Given the description of an element on the screen output the (x, y) to click on. 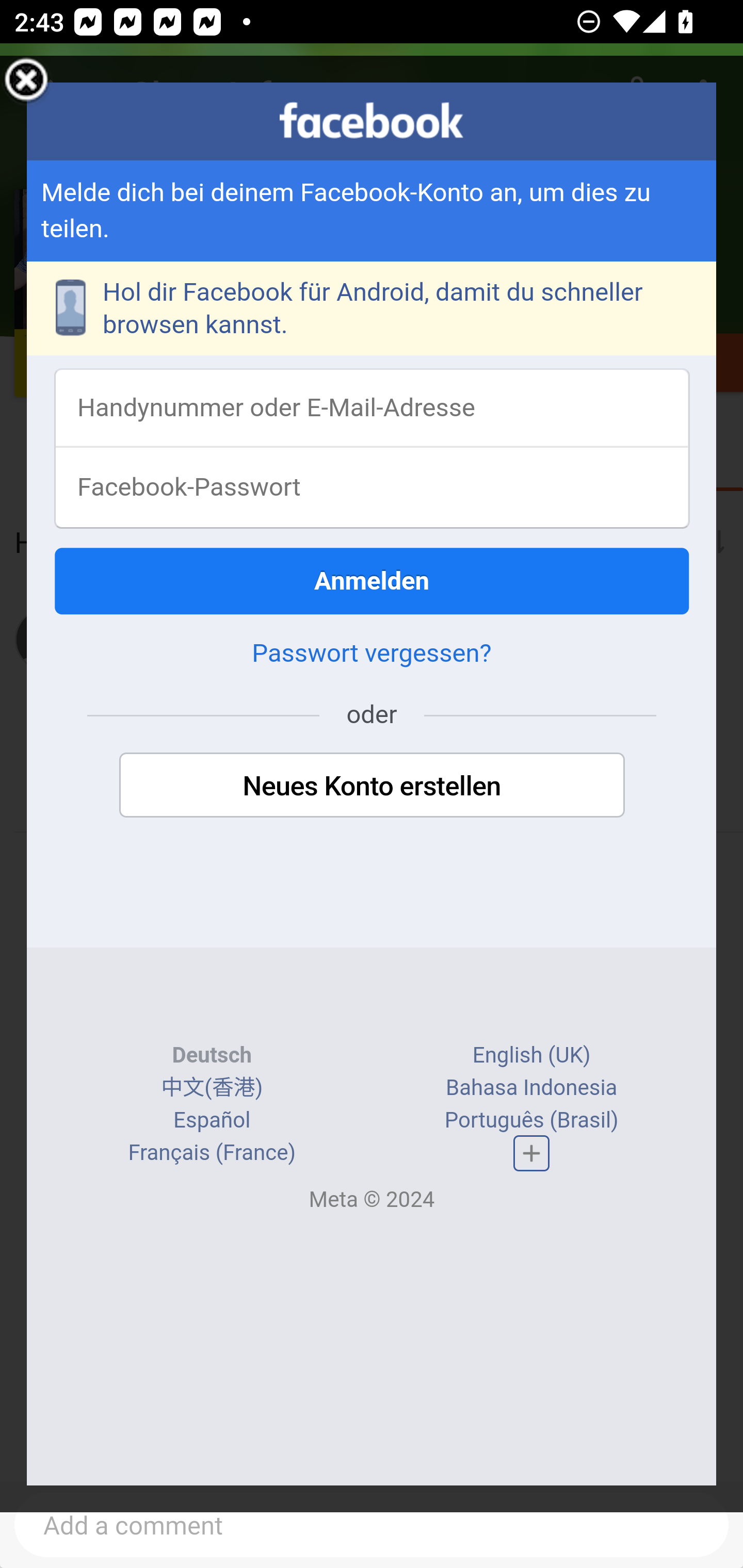
facebook (372, 121)
Anmelden (372, 582)
Passwort vergessen? (371, 654)
Neues Konto erstellen (371, 787)
English (UK) (531, 1055)
中文(香港) (211, 1088)
Bahasa Indonesia (531, 1088)
Español (212, 1121)
Português (Brasil) (530, 1121)
Vollständige Liste aller Sprachen (531, 1154)
Français (France) (212, 1152)
